Given the description of an element on the screen output the (x, y) to click on. 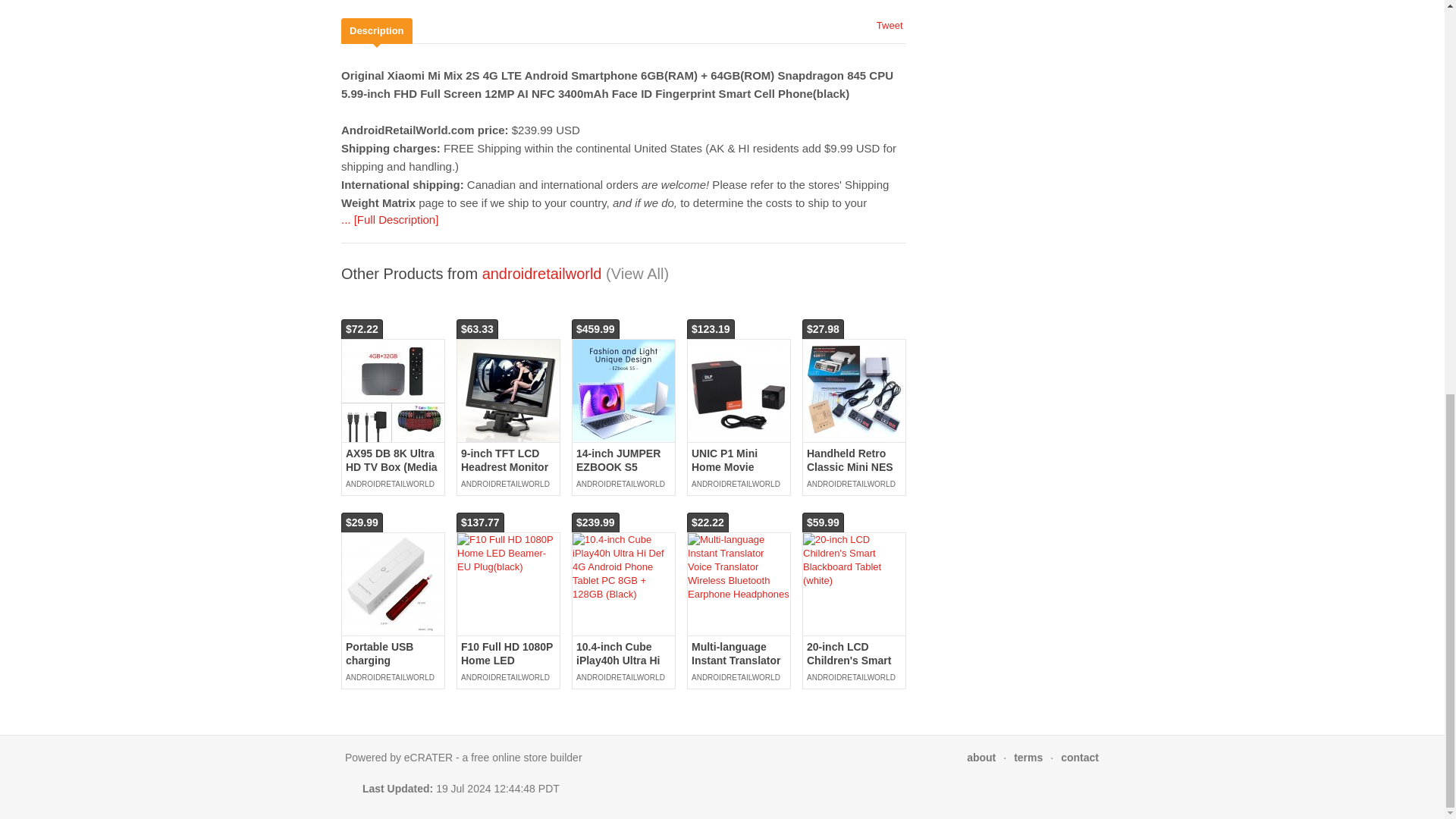
Portable USB charging Aluminum Nail Polishing Tool Set (393, 584)
9-inch TFT LCD Headrest Monitor (508, 390)
Portable USB charging Aluminum Nail Polishing Tool Set (392, 667)
9-inch TFT LCD Headrest Monitor (504, 460)
